Given the description of an element on the screen output the (x, y) to click on. 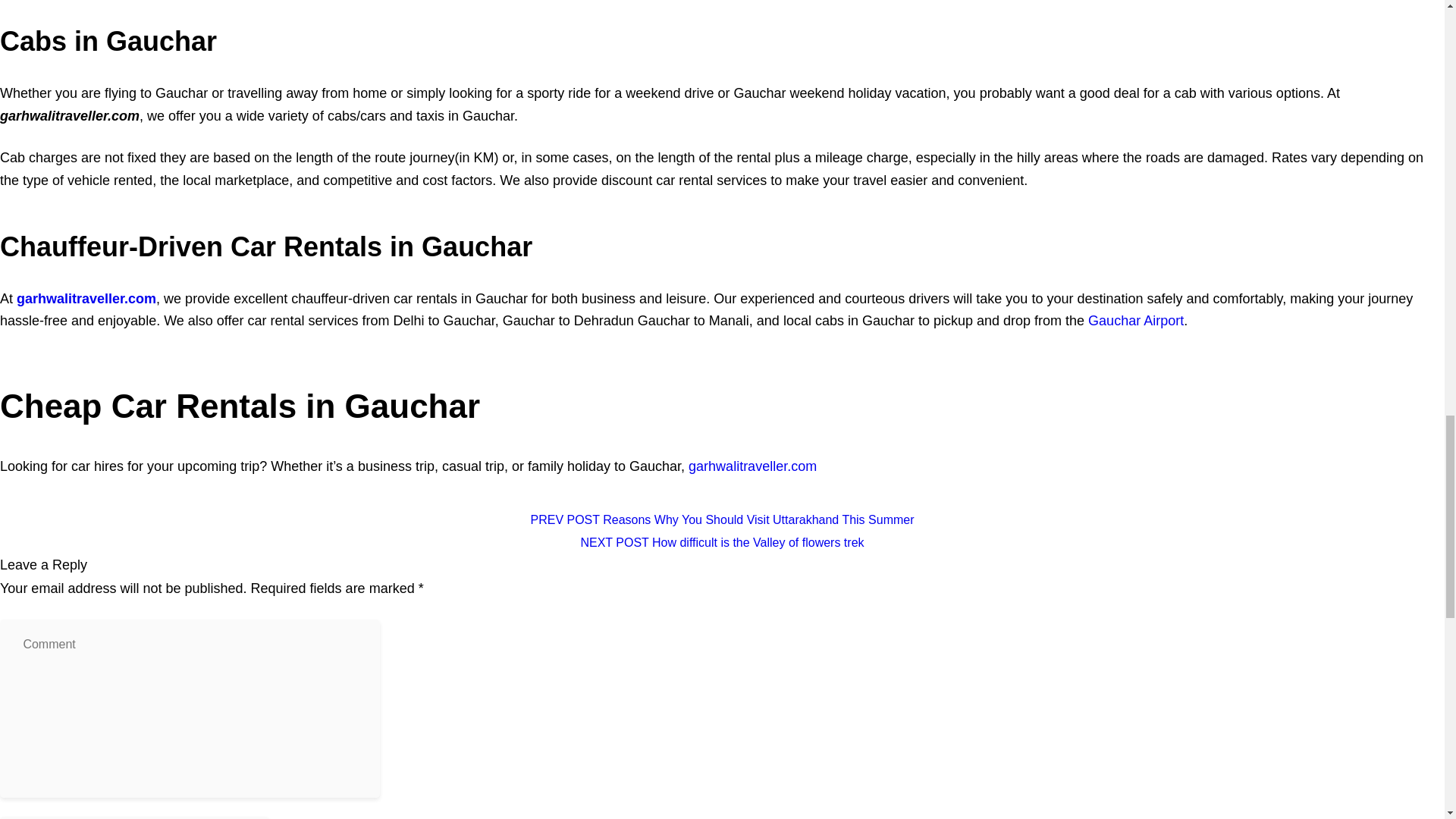
garhwalitraveller.com (752, 466)
NEXT POST How difficult is the Valley of flowers trek (721, 542)
Gauchar Airport (1135, 320)
garhwalitraveller.com (85, 298)
